Given the description of an element on the screen output the (x, y) to click on. 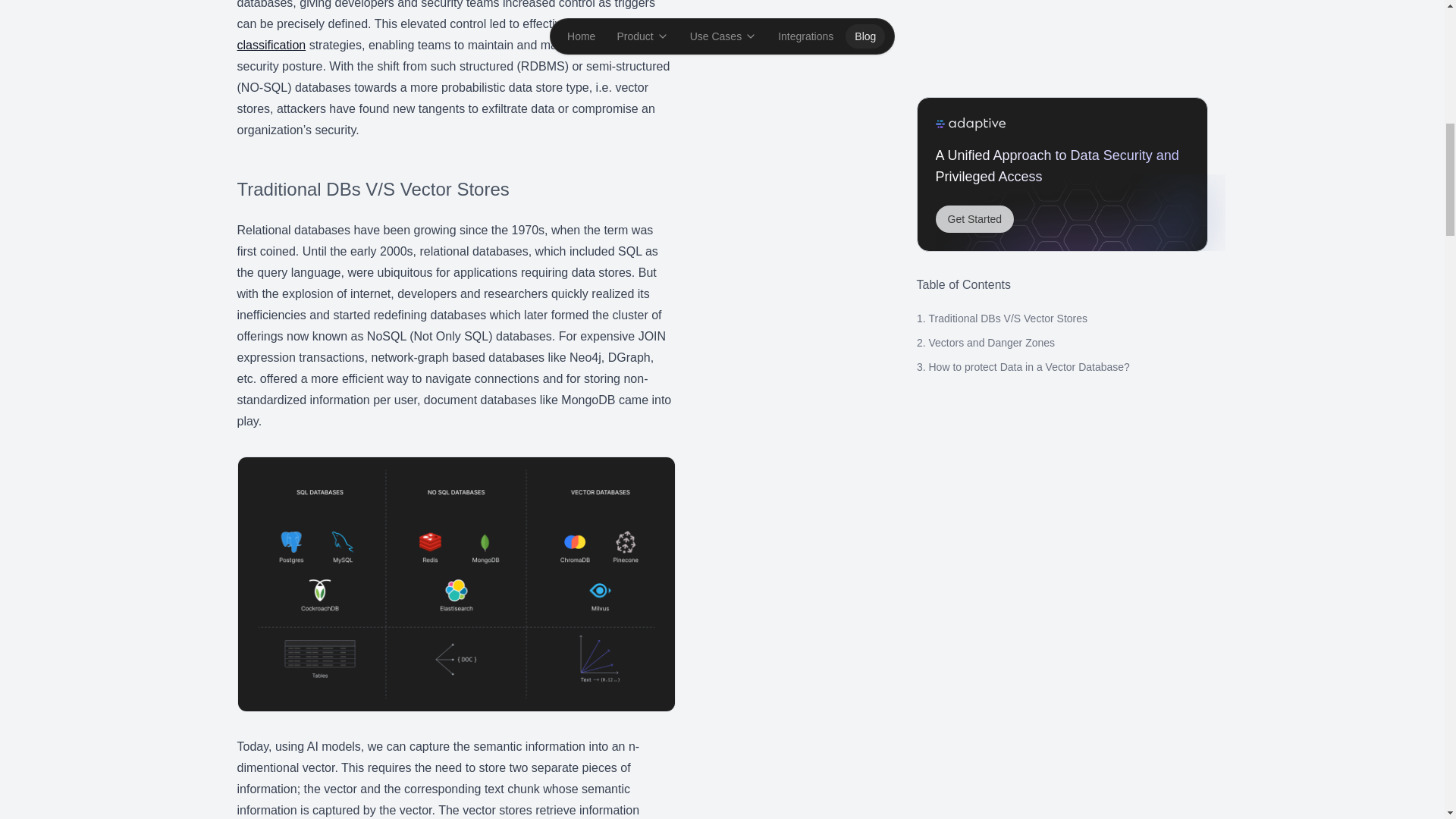
labelling and classification (437, 34)
